Given the description of an element on the screen output the (x, y) to click on. 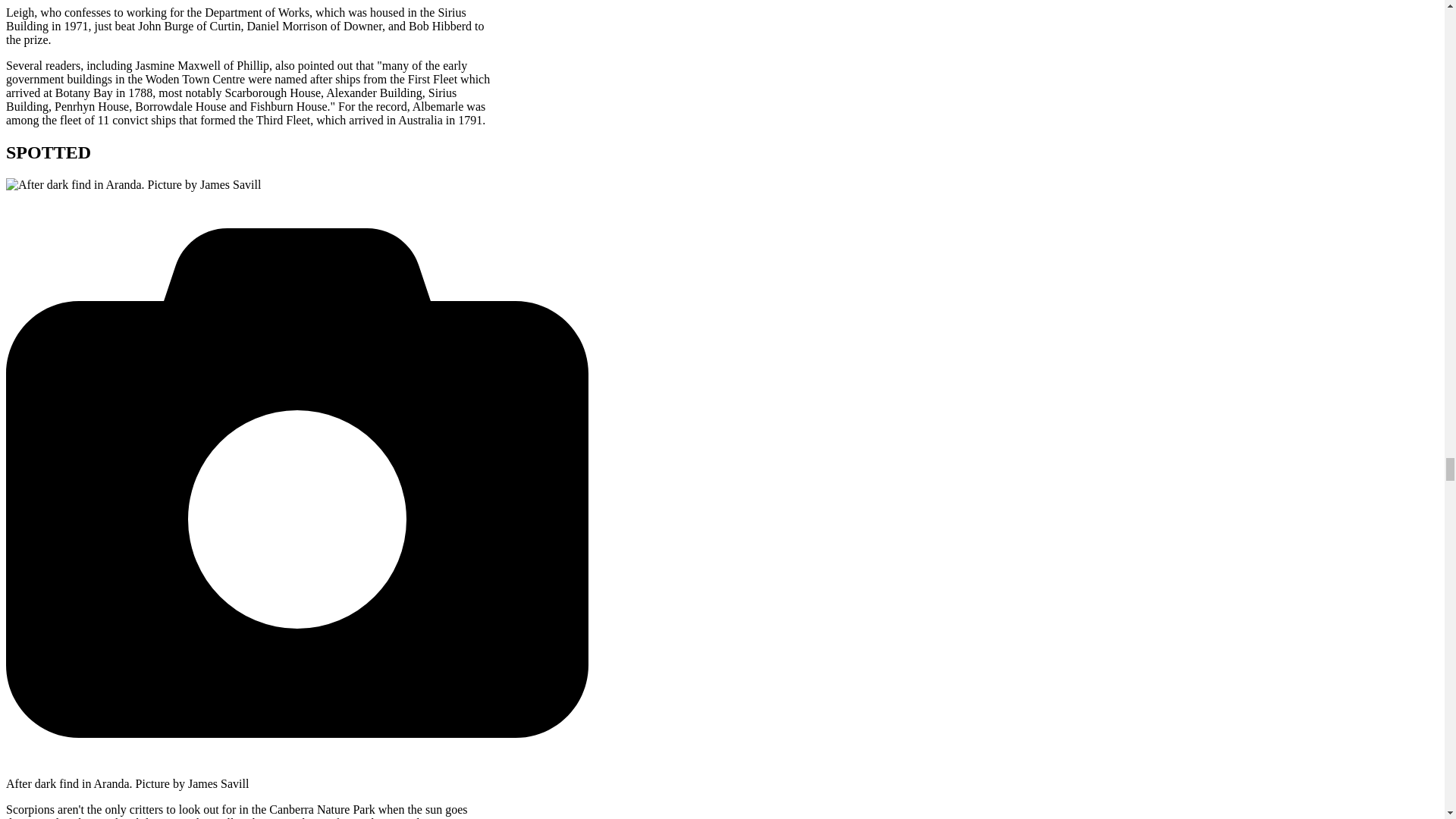
After dark find in Aranda. Picture by James Savill (132, 184)
